Given the description of an element on the screen output the (x, y) to click on. 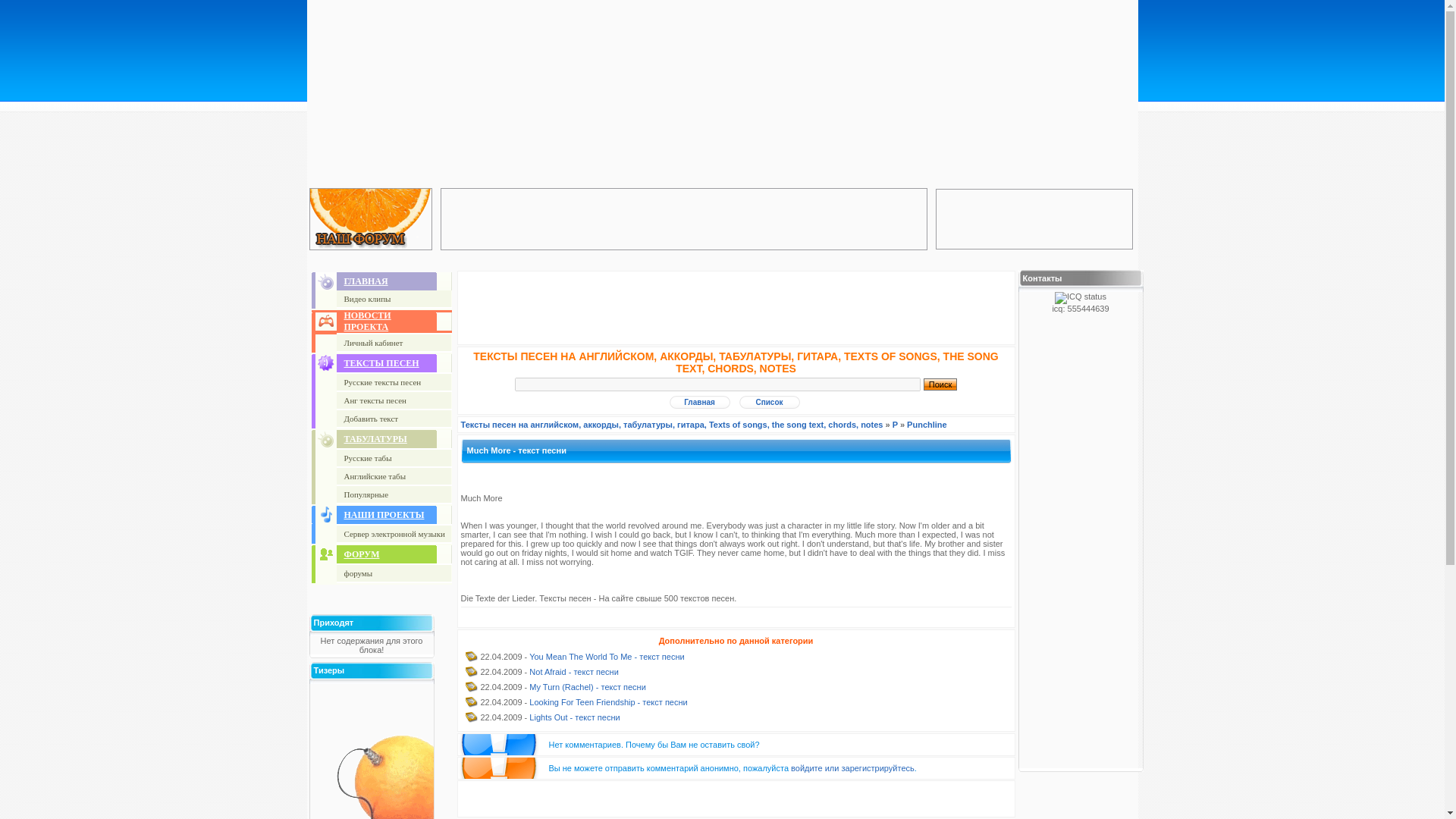
Punchline (927, 424)
Advertisement (371, 751)
Advertisement (735, 307)
Advertisement (1033, 218)
Punchline (927, 424)
